Given the description of an element on the screen output the (x, y) to click on. 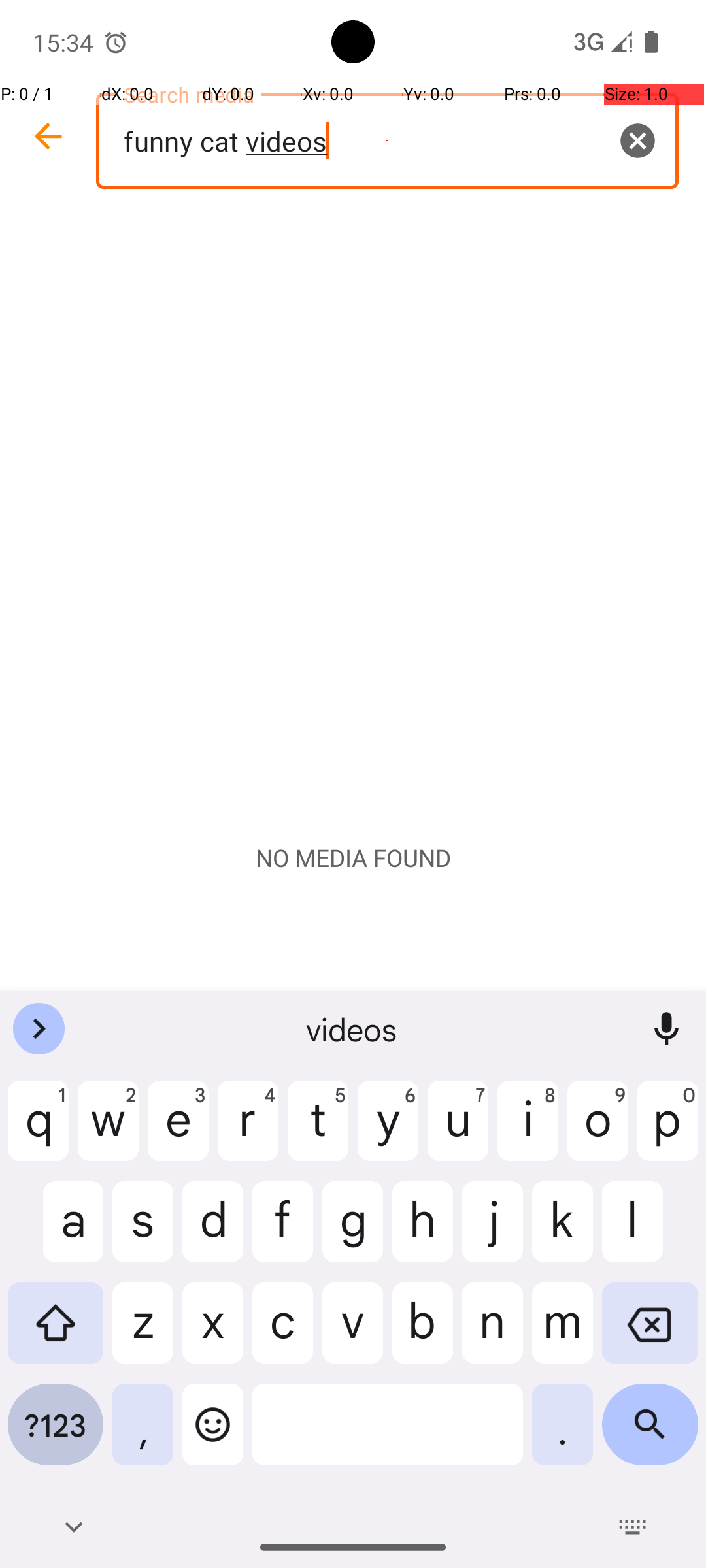
funny cat videos Element type: android.widget.EditText (387, 140)
NO MEDIA FOUND Element type: android.widget.TextView (353, 857)
videos Element type: android.widget.FrameLayout (352, 1028)
